Given the description of an element on the screen output the (x, y) to click on. 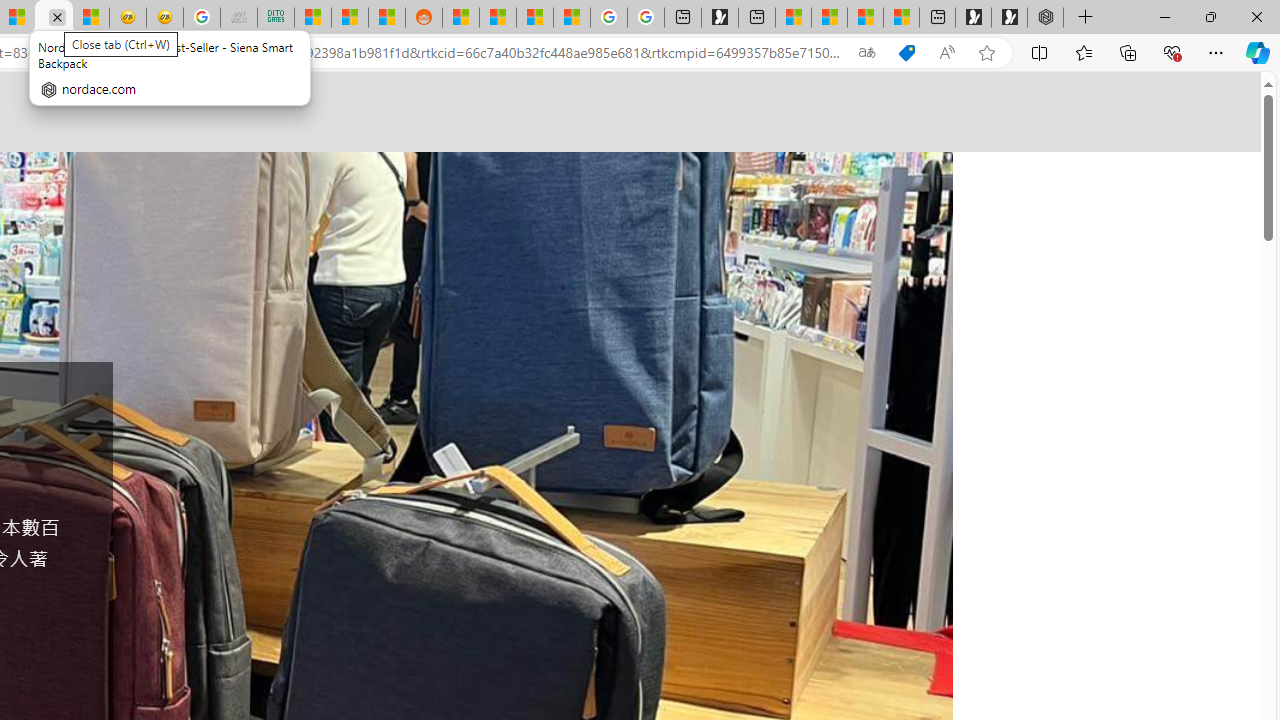
Close tab (57, 16)
Minimize (1164, 16)
MSNBC - MSN (312, 17)
Nordace - Nordace Siena Is Not An Ordinary Backpack (1045, 17)
